Given the description of an element on the screen output the (x, y) to click on. 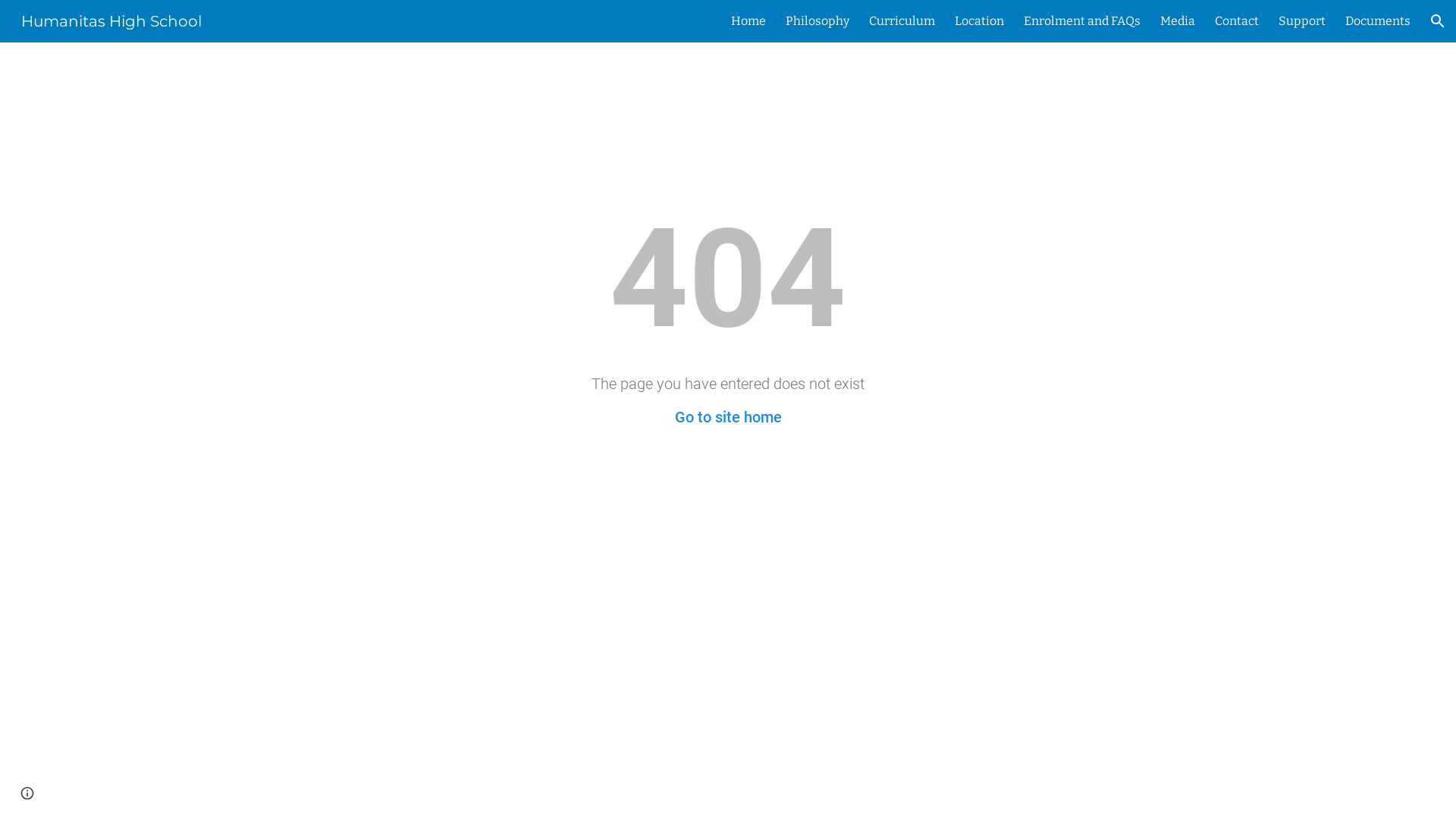
Contact Element type: text (1236, 20)
Enrolment and FAQs Element type: text (1081, 20)
Home Element type: text (748, 20)
Curriculum Element type: text (902, 20)
Support Element type: text (1301, 20)
Philosophy Element type: text (817, 20)
Documents Element type: text (1377, 20)
Go to site home Element type: text (727, 416)
Location Element type: text (979, 20)
Media Element type: text (1177, 20)
Humanitas High School Element type: text (111, 19)
